Given the description of an element on the screen output the (x, y) to click on. 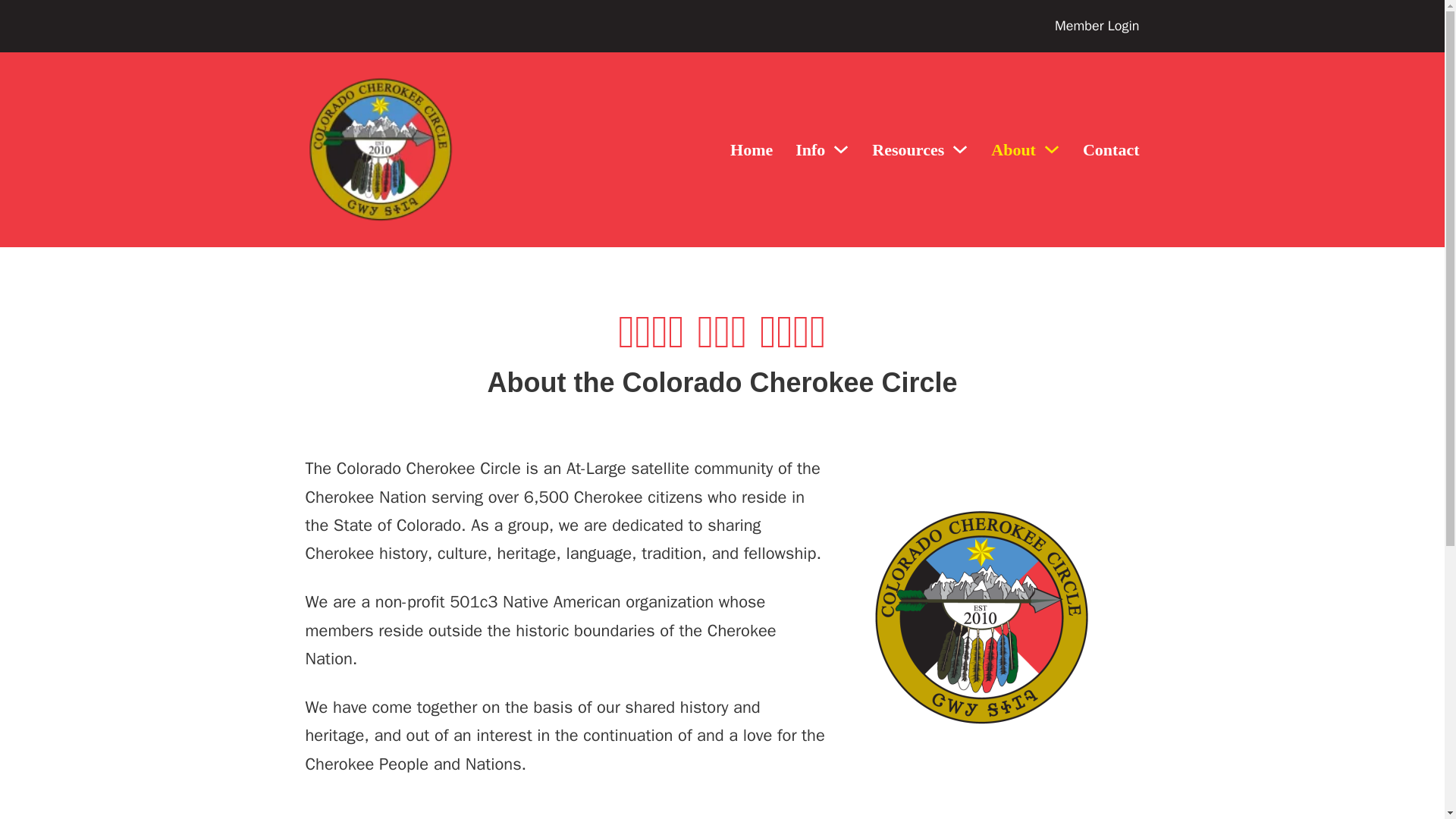
Info (809, 149)
Contact (1111, 149)
Home (751, 149)
Member Login (1096, 25)
About (1013, 149)
Resources (907, 149)
